Given the description of an element on the screen output the (x, y) to click on. 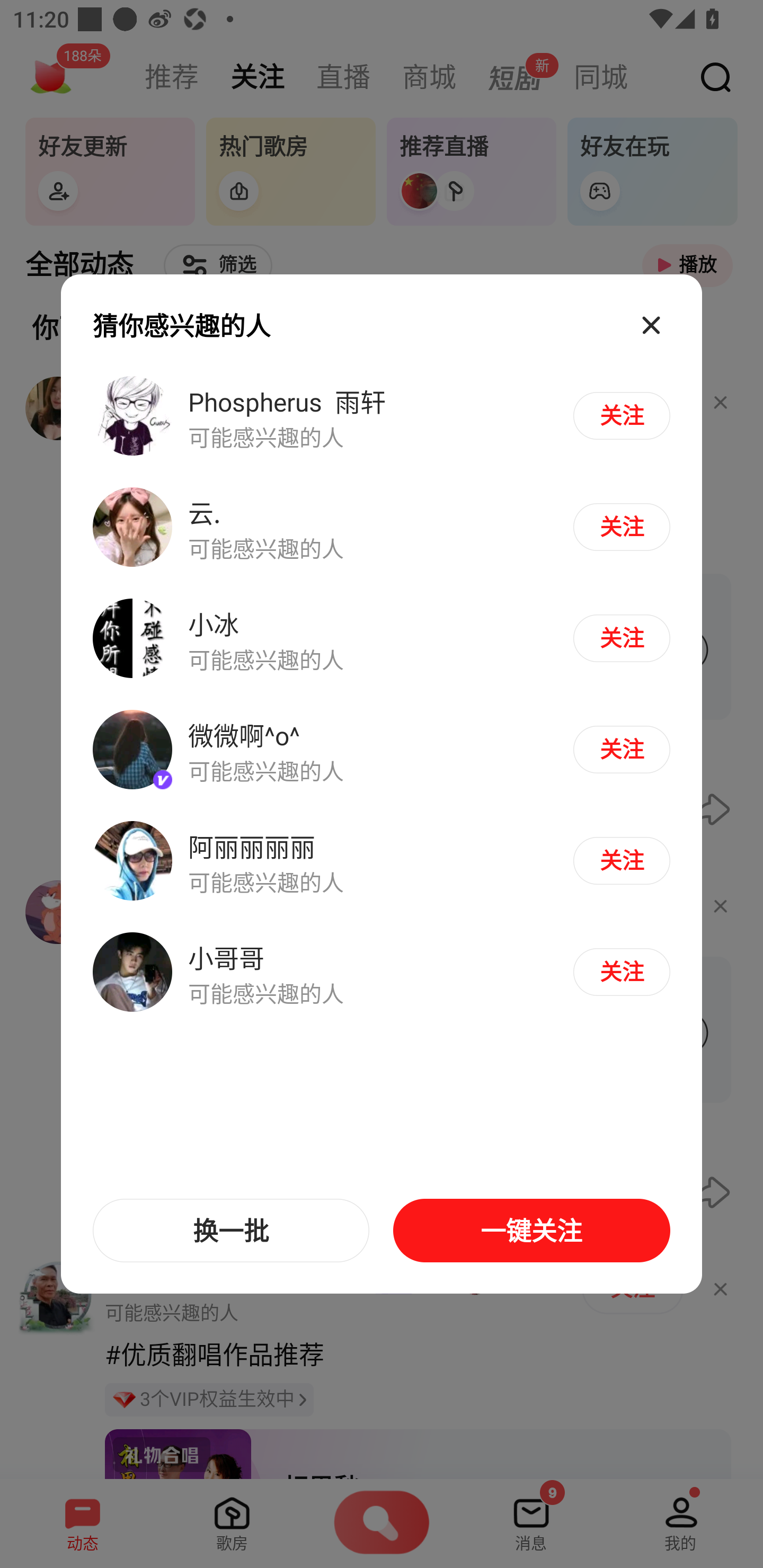
Phospherus  雨轩 可能感兴趣的人 关注 按钮 (381, 415)
关注 按钮 (621, 415)
云. 可能感兴趣的人 关注 按钮 (381, 527)
关注 按钮 (621, 526)
小冰 可能感兴趣的人 关注 按钮 (381, 638)
关注 按钮 (621, 637)
微微啊^o^ 可能感兴趣的人 关注 按钮 (381, 749)
关注 按钮 (621, 749)
阿丽丽丽丽 可能感兴趣的人 关注 按钮 (381, 860)
关注 按钮 (621, 860)
小哥哥 可能感兴趣的人 关注 按钮 (381, 971)
关注 按钮 (621, 971)
换一批 按钮 (231, 1230)
一键关注 按钮 (530, 1230)
